Given the description of an element on the screen output the (x, y) to click on. 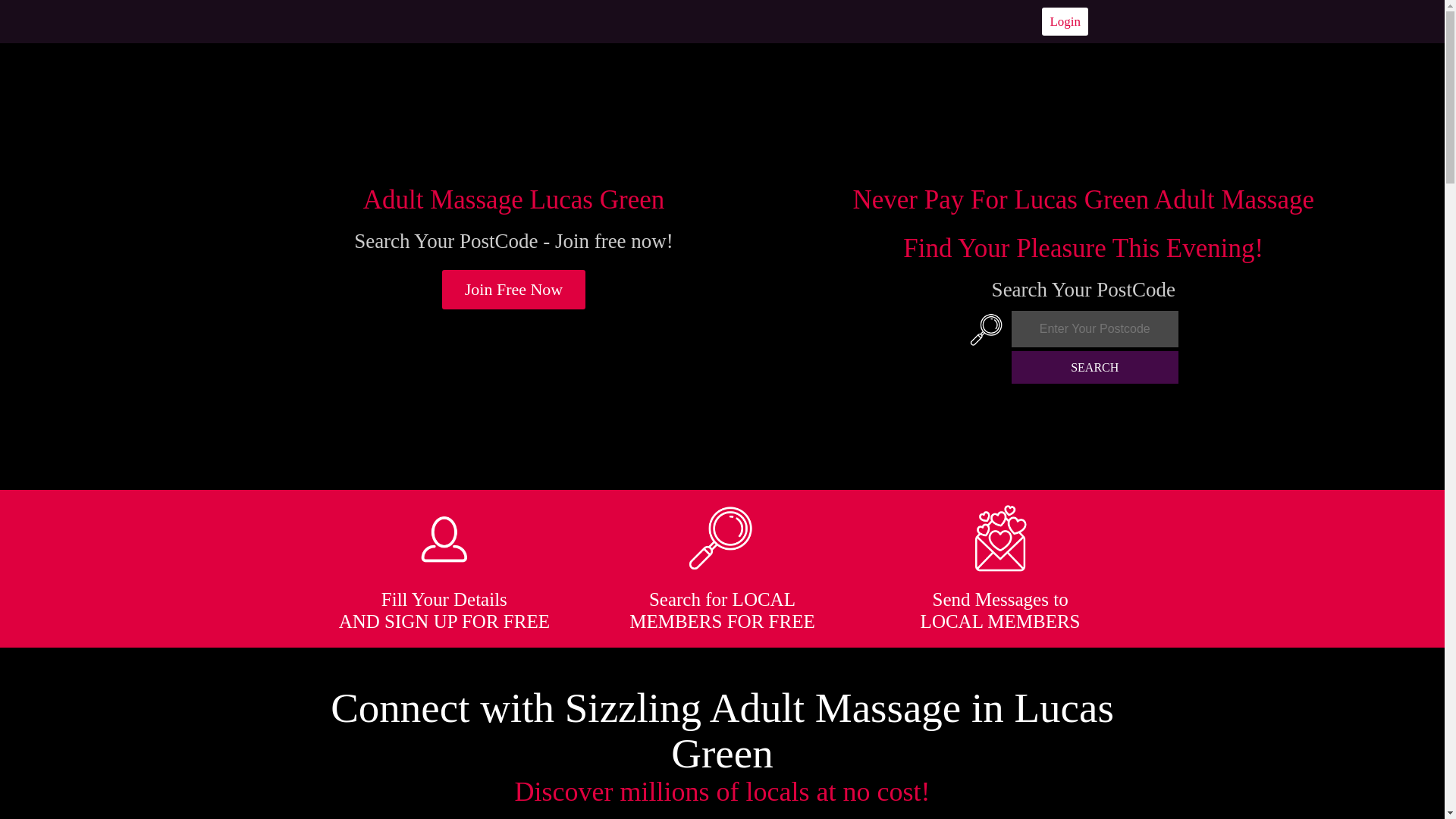
SEARCH (1094, 367)
Join (514, 289)
Join Free Now (514, 289)
Login (1064, 21)
Login (1064, 21)
